Given the description of an element on the screen output the (x, y) to click on. 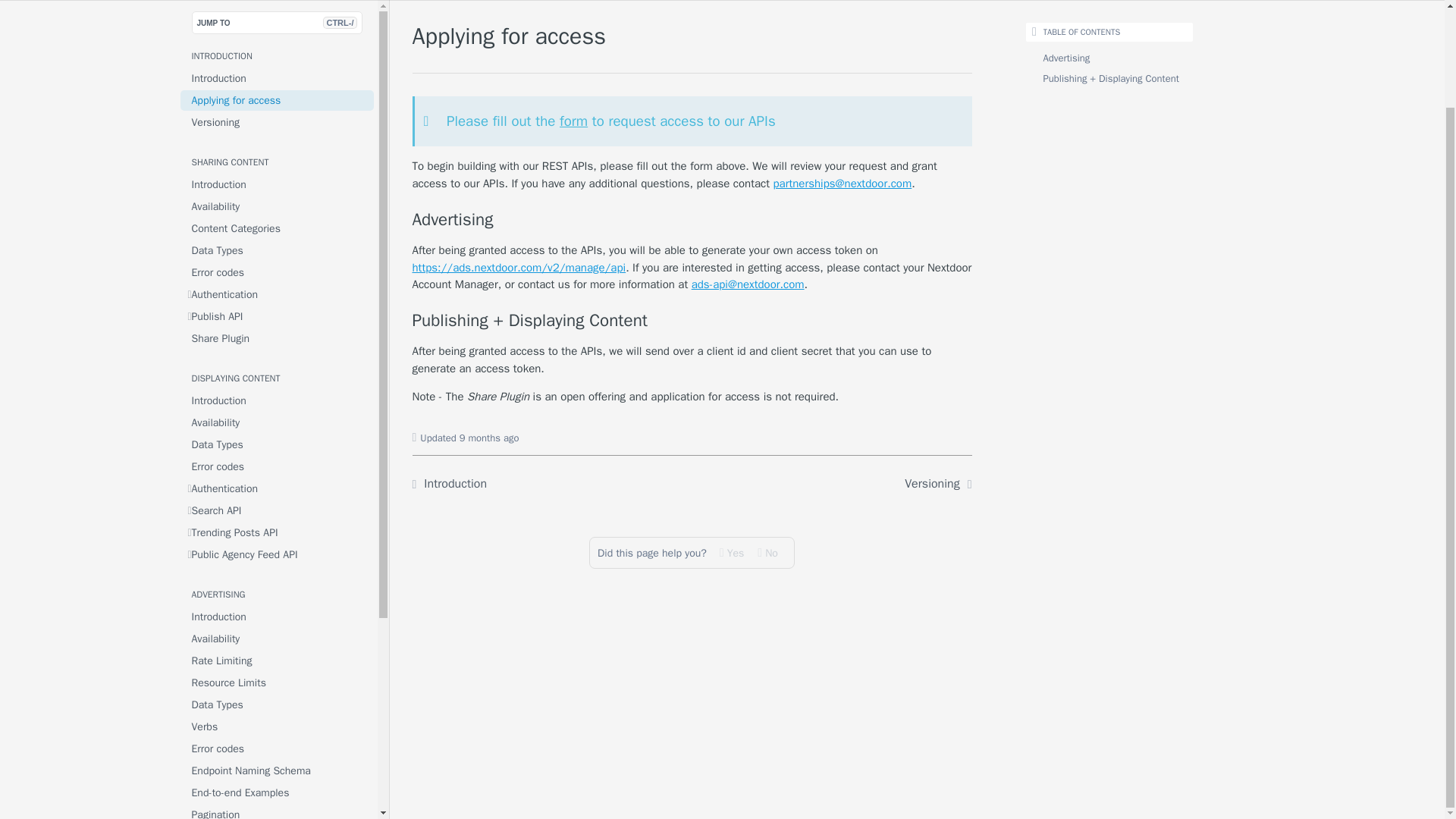
Versioning (277, 122)
Publish API (277, 316)
Applying for access (277, 100)
Availability (277, 206)
Advertising (692, 219)
Data Types (277, 250)
Authentication (277, 294)
Content Categories (277, 228)
Introduction (277, 184)
Introduction (277, 77)
Error codes (277, 272)
